Given the description of an element on the screen output the (x, y) to click on. 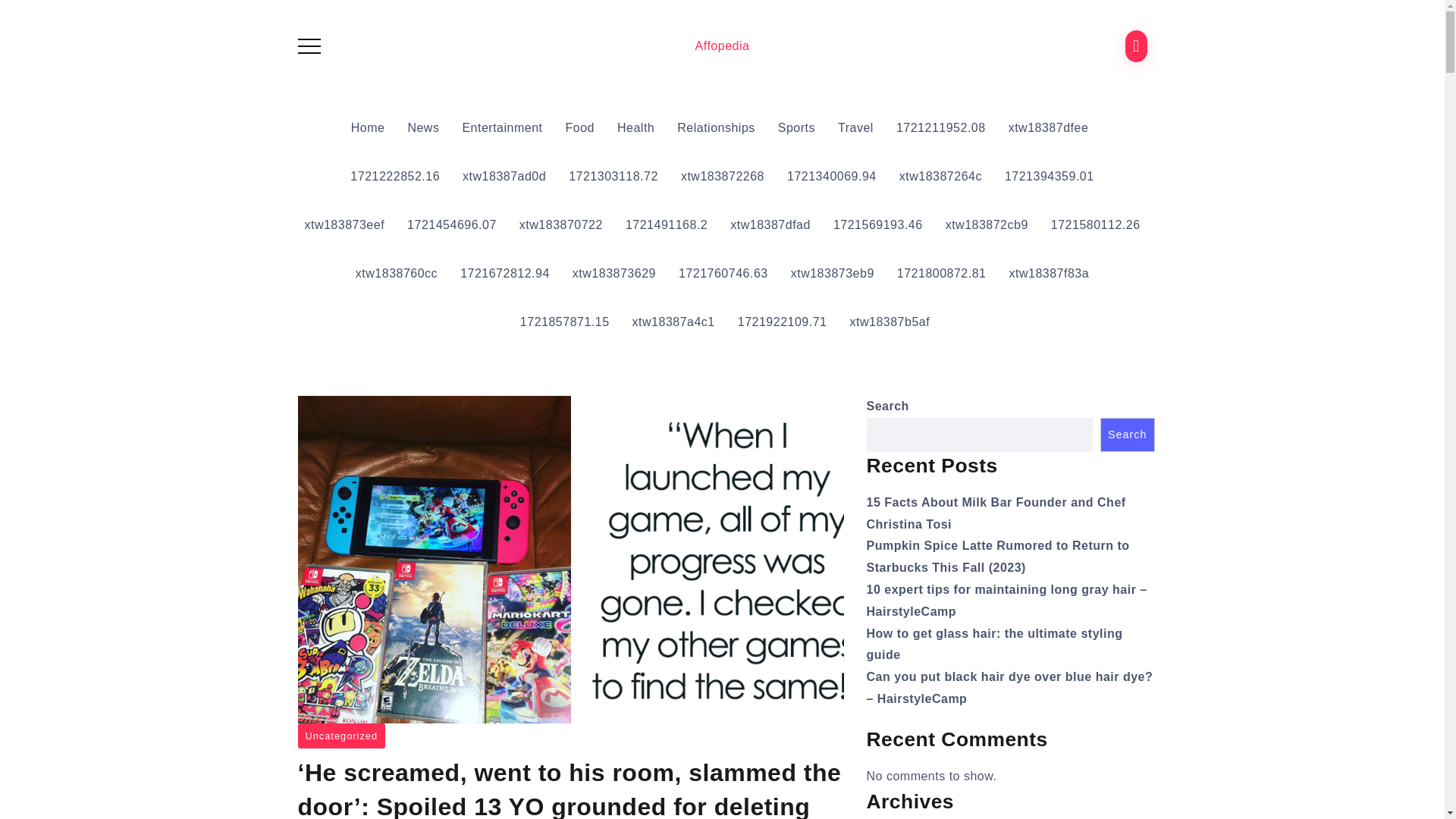
Home (368, 128)
Affopedia (722, 46)
News (423, 128)
Uncategorized (341, 735)
